Given the description of an element on the screen output the (x, y) to click on. 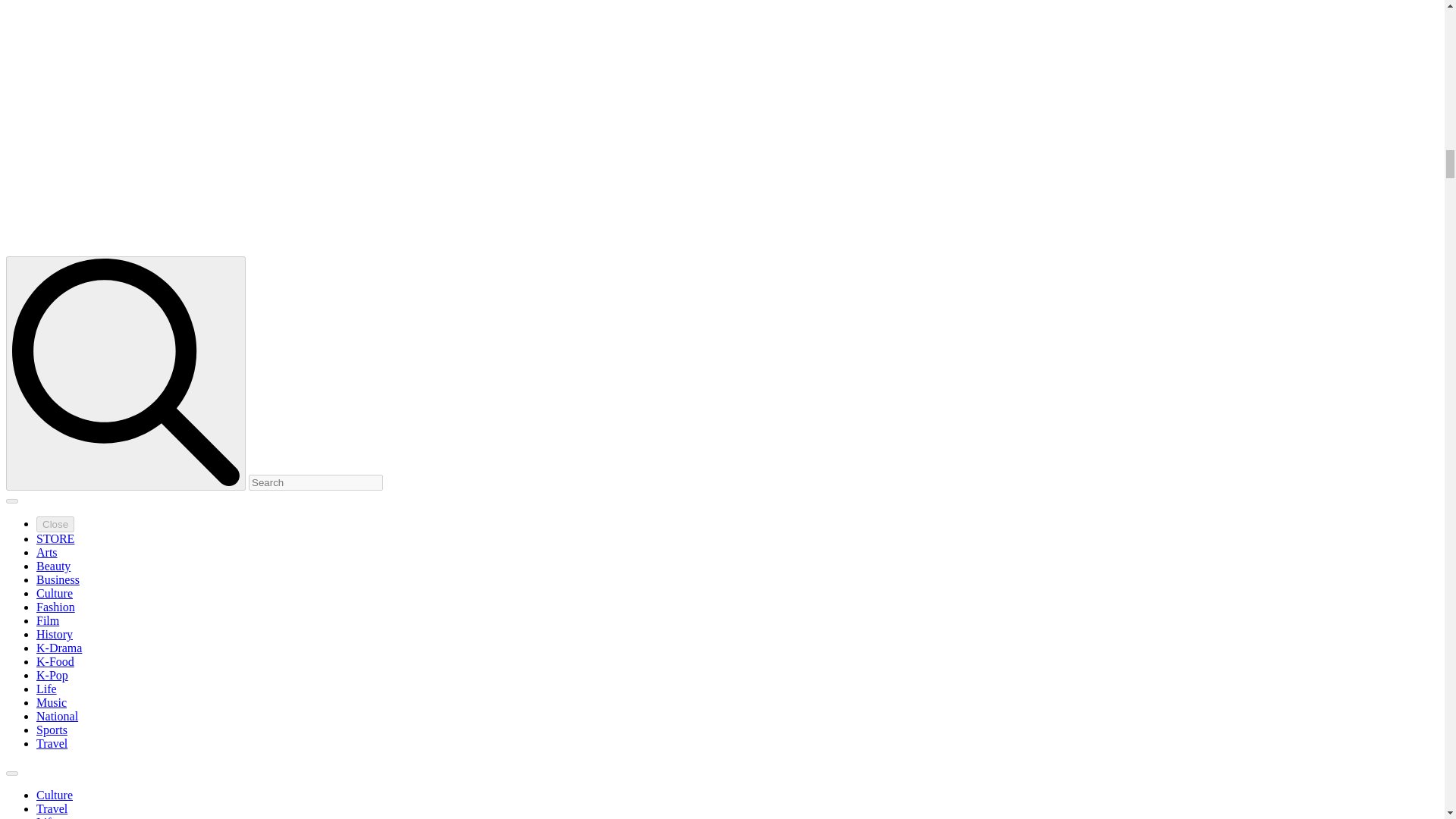
Business (58, 579)
Fashion (55, 606)
Life (46, 817)
Travel (51, 808)
Music (51, 702)
Film (47, 620)
Sports (51, 729)
K-Food (55, 661)
K-Drama (58, 647)
Travel (51, 743)
